Given the description of an element on the screen output the (x, y) to click on. 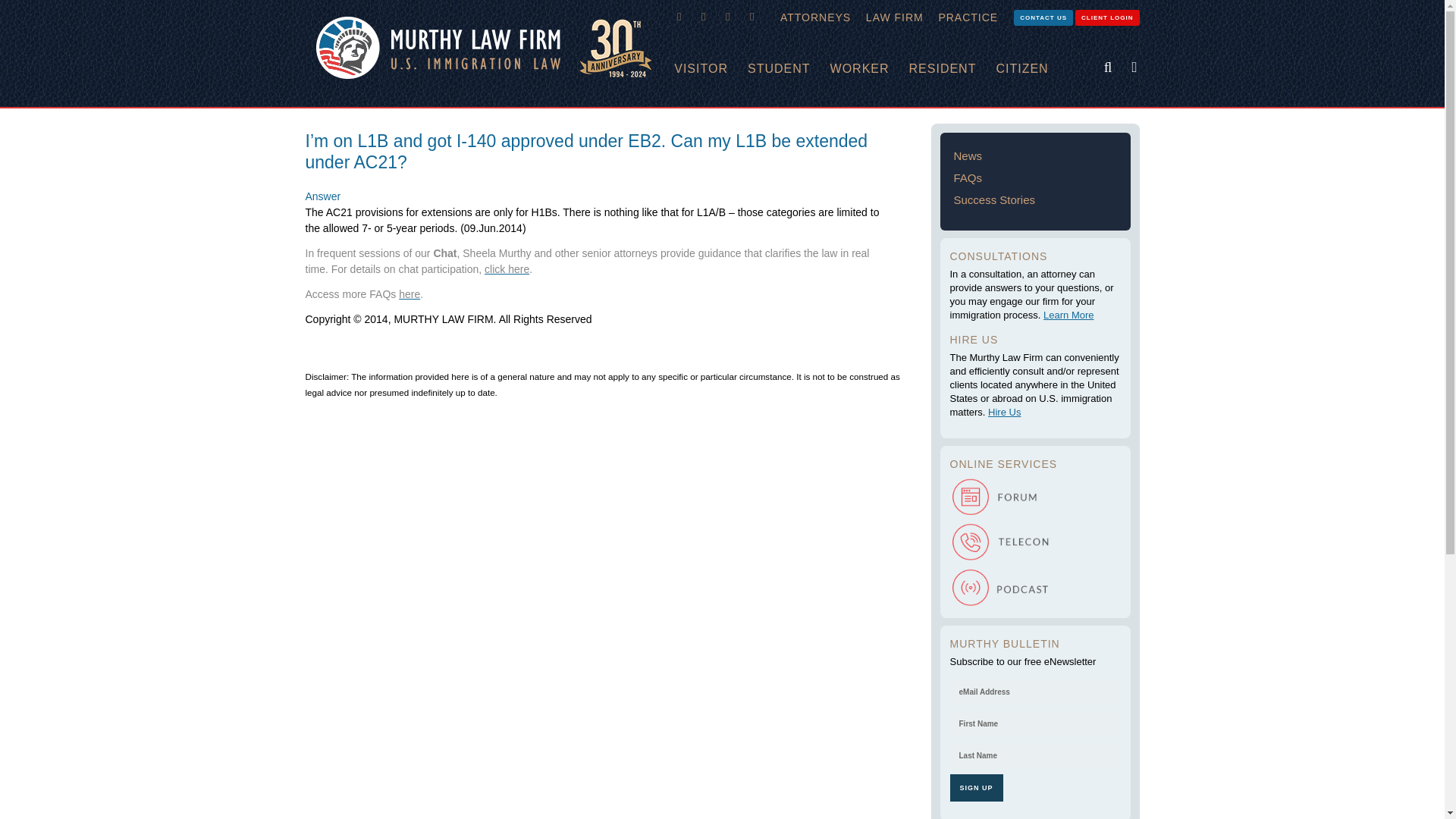
LAW FIRM (895, 17)
VISITOR (711, 69)
Sign up (976, 787)
All FAQs (409, 294)
CONTACT US (1043, 17)
ATTORNEYS (815, 17)
WORKER (868, 69)
RESIDENT (951, 69)
STUDENT (788, 69)
CLIENT LOGIN (1106, 17)
